Given the description of an element on the screen output the (x, y) to click on. 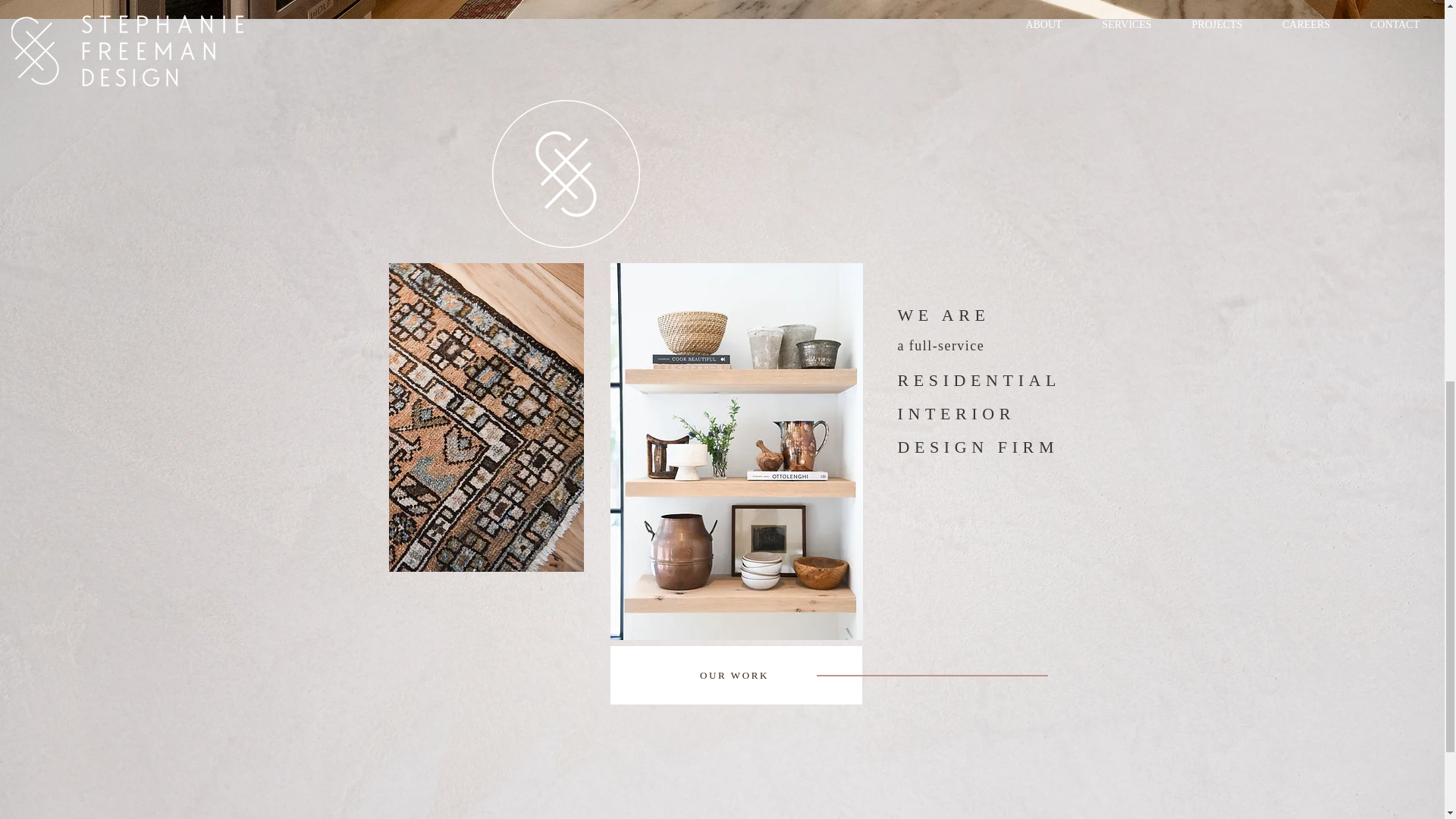
OUR WORK (735, 675)
